Given the description of an element on the screen output the (x, y) to click on. 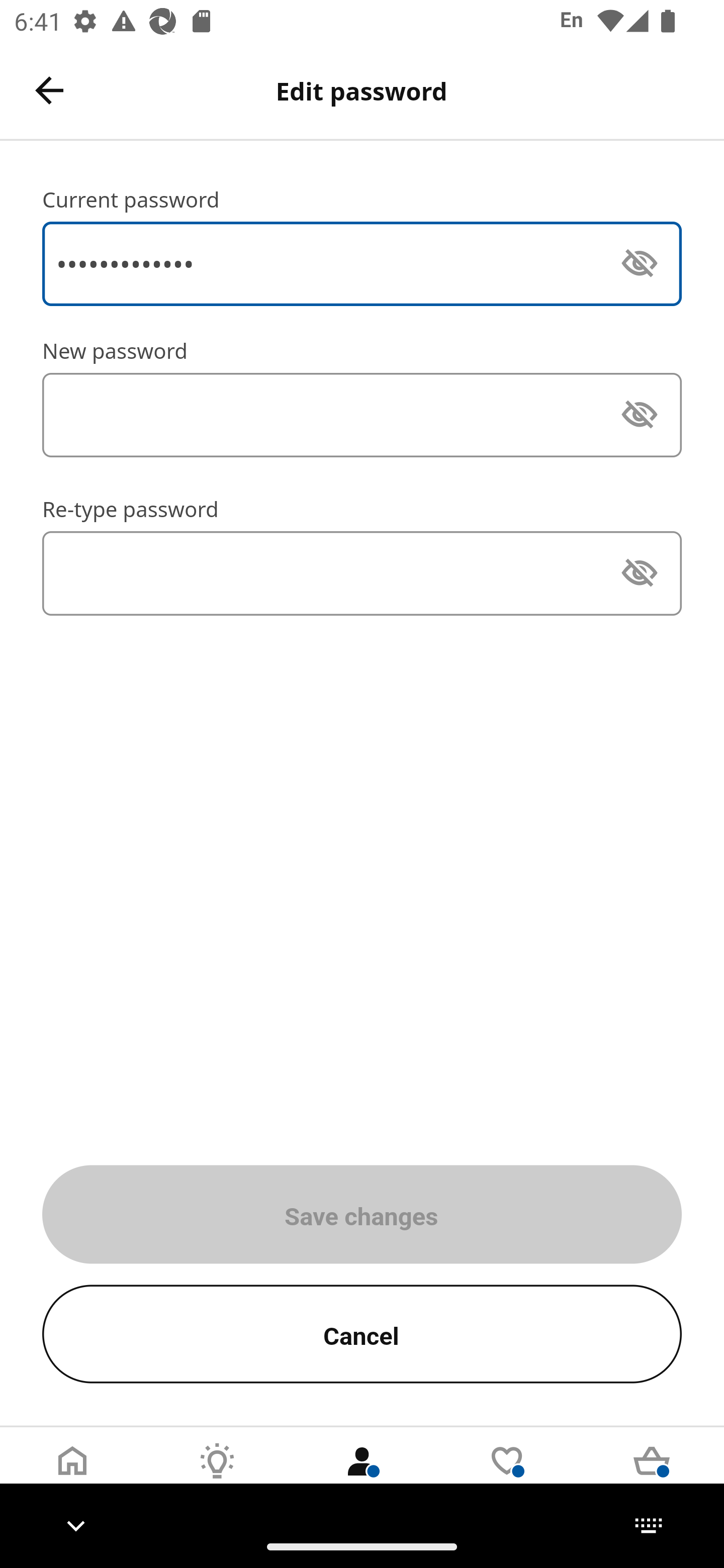
••••••••••••• (361, 263)
Save changes (361, 1214)
Cancel (361, 1333)
Home
Tab 1 of 5 (72, 1476)
Inspirations
Tab 2 of 5 (216, 1476)
User
Tab 3 of 5 (361, 1476)
Wishlist
Tab 4 of 5 (506, 1476)
Cart
Tab 5 of 5 (651, 1476)
